Given the description of an element on the screen output the (x, y) to click on. 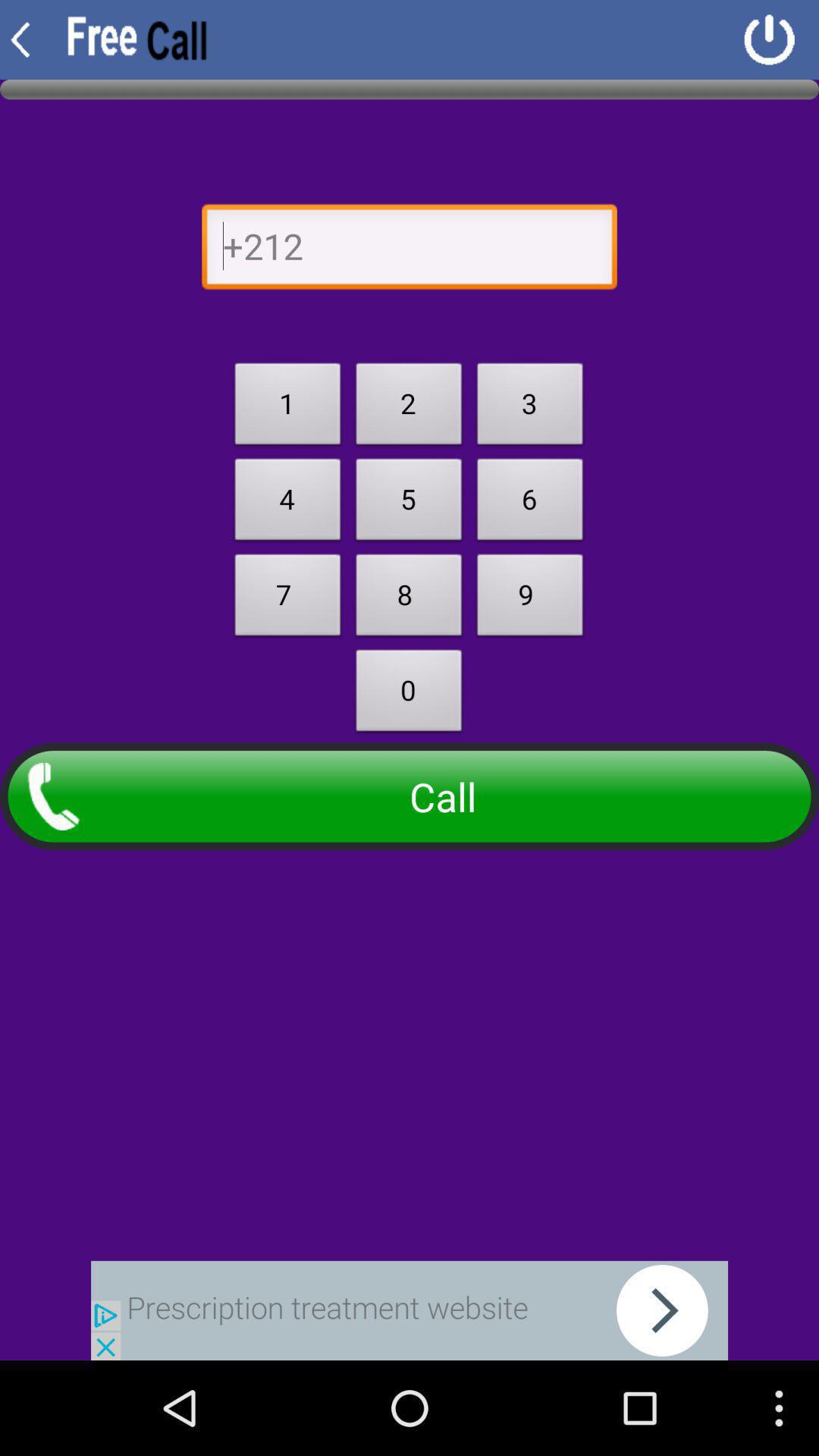
go back (409, 250)
